Given the description of an element on the screen output the (x, y) to click on. 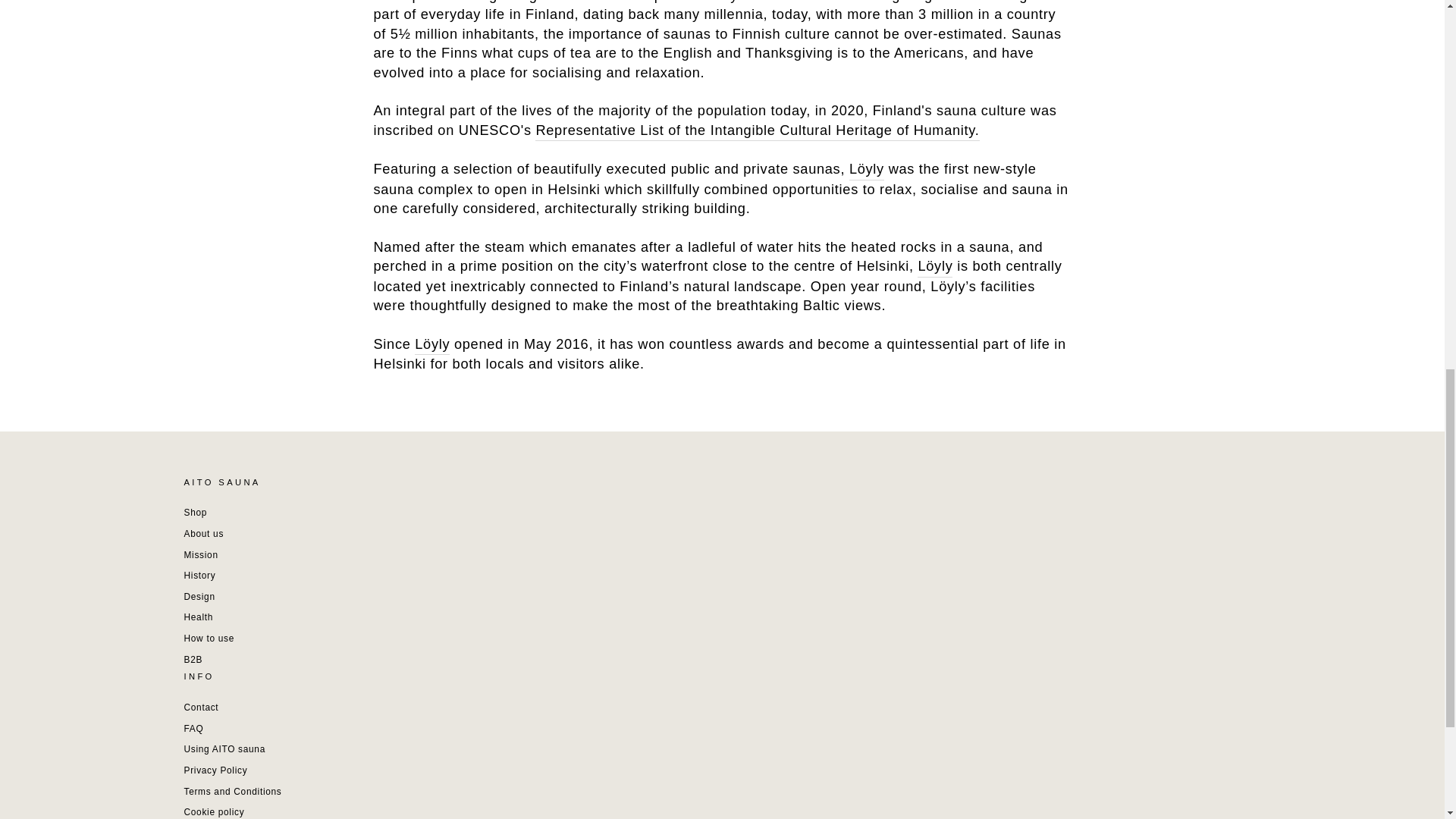
Health (197, 617)
Mission (199, 555)
B2B (192, 659)
About us (203, 533)
Design (198, 597)
History (199, 575)
How to use (207, 638)
Shop (194, 512)
